Given the description of an element on the screen output the (x, y) to click on. 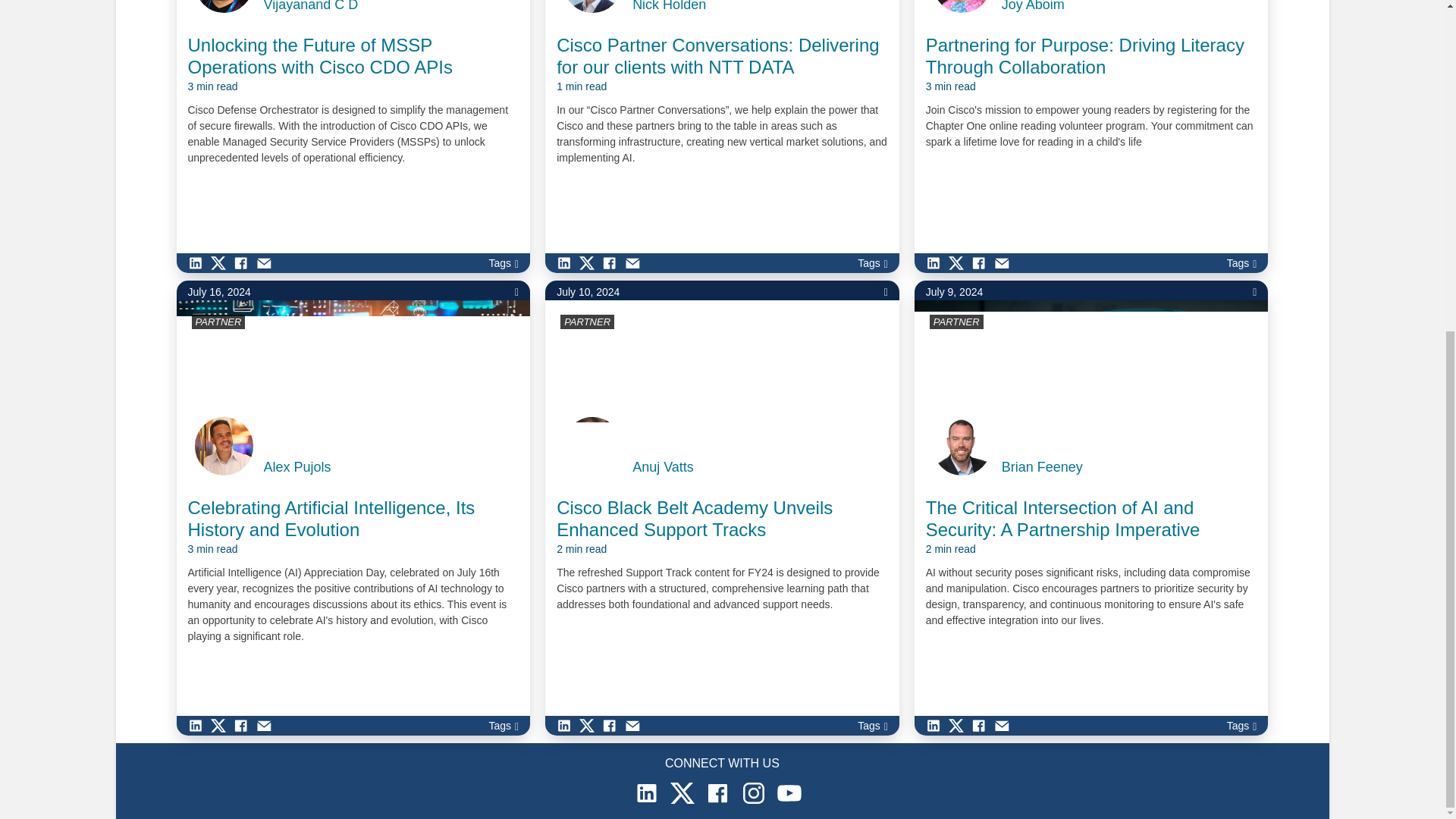
Joy Aboim (1032, 6)
Nick Holden (668, 6)
Posts by Anuj Vatts (662, 467)
Posts by Brian Feeney (1042, 467)
Vijayanand C D (310, 6)
Unlocking the Future of MSSP Operations with Cisco CDO APIs (353, 64)
Posts by Alex Pujols (297, 467)
Posts by Nick Holden (668, 6)
Posts by Vijayanand C D (310, 6)
Posts by Joy Aboim (1032, 6)
